Given the description of an element on the screen output the (x, y) to click on. 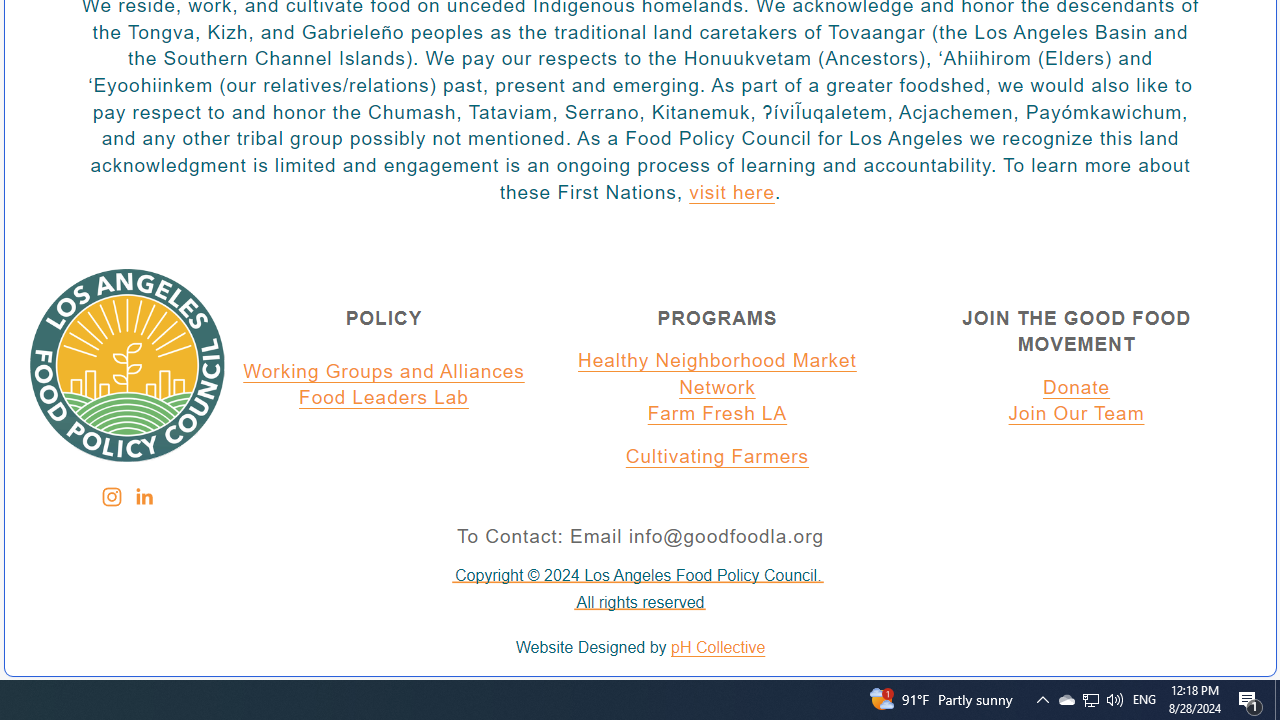
Food Leaders Lab (383, 399)
Cultivating Farmers  (717, 457)
pH Collective (717, 647)
Donate (1076, 387)
LinkedIn (143, 497)
visit here (731, 193)
Healthy Neighborhood Market Network (717, 374)
Join Our Team (1076, 415)
Farm Fresh LA (717, 415)
Instagram (111, 497)
Working Groups and Alliances (383, 371)
Class: sqs-svg-icon--social (142, 496)
